Given the description of an element on the screen output the (x, y) to click on. 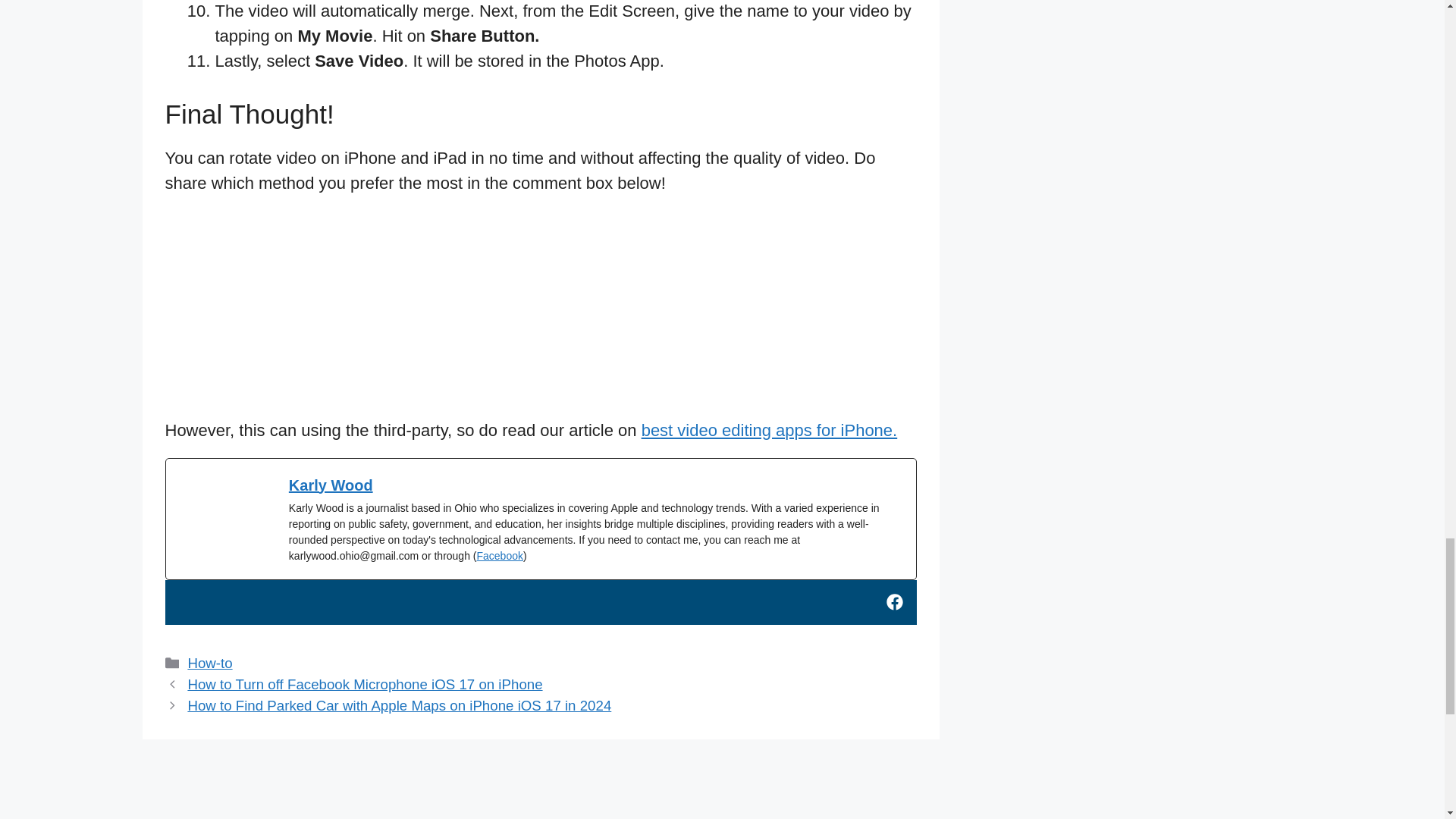
Facebook (499, 555)
Karly Wood (330, 484)
best video editing apps for iPhone. (770, 429)
How to Turn off Facebook Microphone iOS 17 on iPhone (364, 684)
How-to (209, 662)
